Given the description of an element on the screen output the (x, y) to click on. 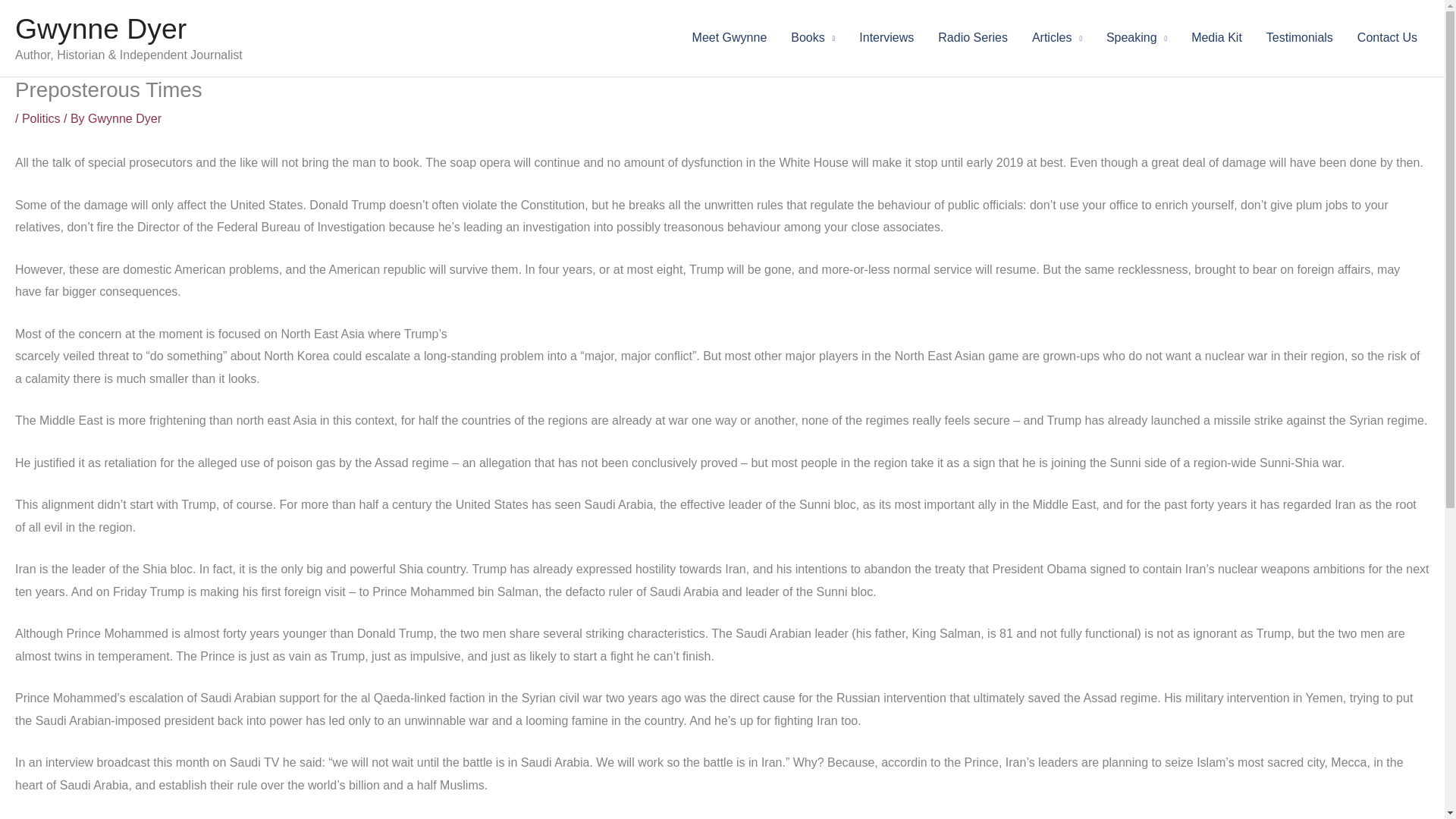
Speaking (1136, 38)
Articles (1057, 38)
Radio Series (973, 38)
Testimonials (1299, 38)
Gwynne Dyer (100, 29)
Interviews (886, 38)
Media Kit (1216, 38)
Politics (41, 118)
Contact Us (1387, 38)
Gwynne Dyer (124, 118)
